Given the description of an element on the screen output the (x, y) to click on. 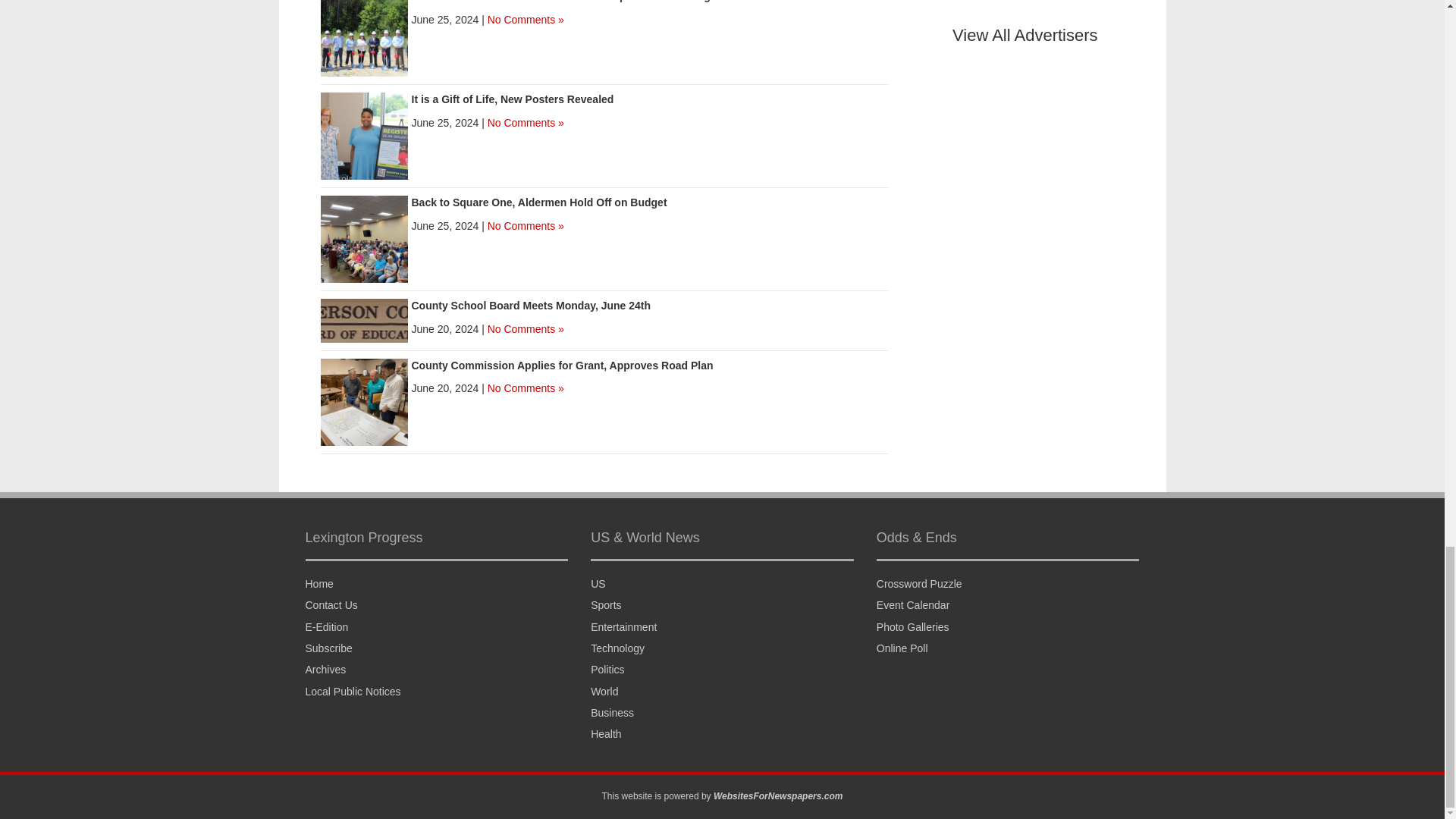
It is a Gift of Life, New Posters Revealed (363, 135)
It is a Gift of Life, New Posters Revealed (511, 99)
County Commission Applies for Grant, Approves Road Plan (363, 400)
County School Board Meets Monday, June 24th (363, 319)
Back to Square One, Aldermen Hold Off on Budget (538, 202)
County Commission Applies for Grant, Approves Road Plan (561, 365)
Back to Square One, Aldermen Hold Off on Budget (363, 238)
Officials Break Ground on New Health Department Building (363, 32)
County School Board Meets Monday, June 24th (530, 305)
